Given the description of an element on the screen output the (x, y) to click on. 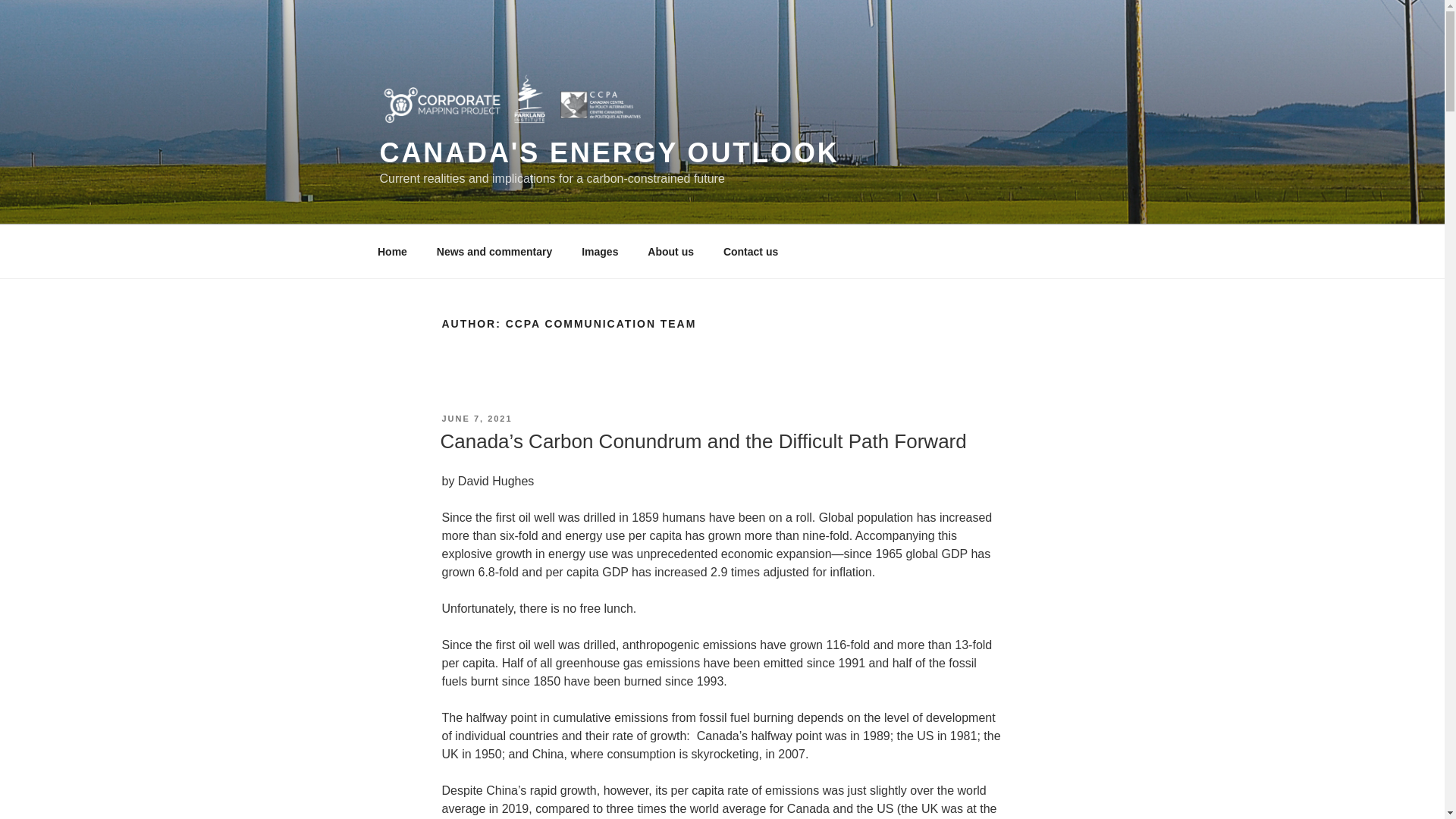
Contact us (750, 252)
Images (600, 252)
CANADA'S ENERGY OUTLOOK (608, 152)
JUNE 7, 2021 (476, 418)
News and commentary (494, 252)
About us (670, 252)
Home (392, 252)
